Given the description of an element on the screen output the (x, y) to click on. 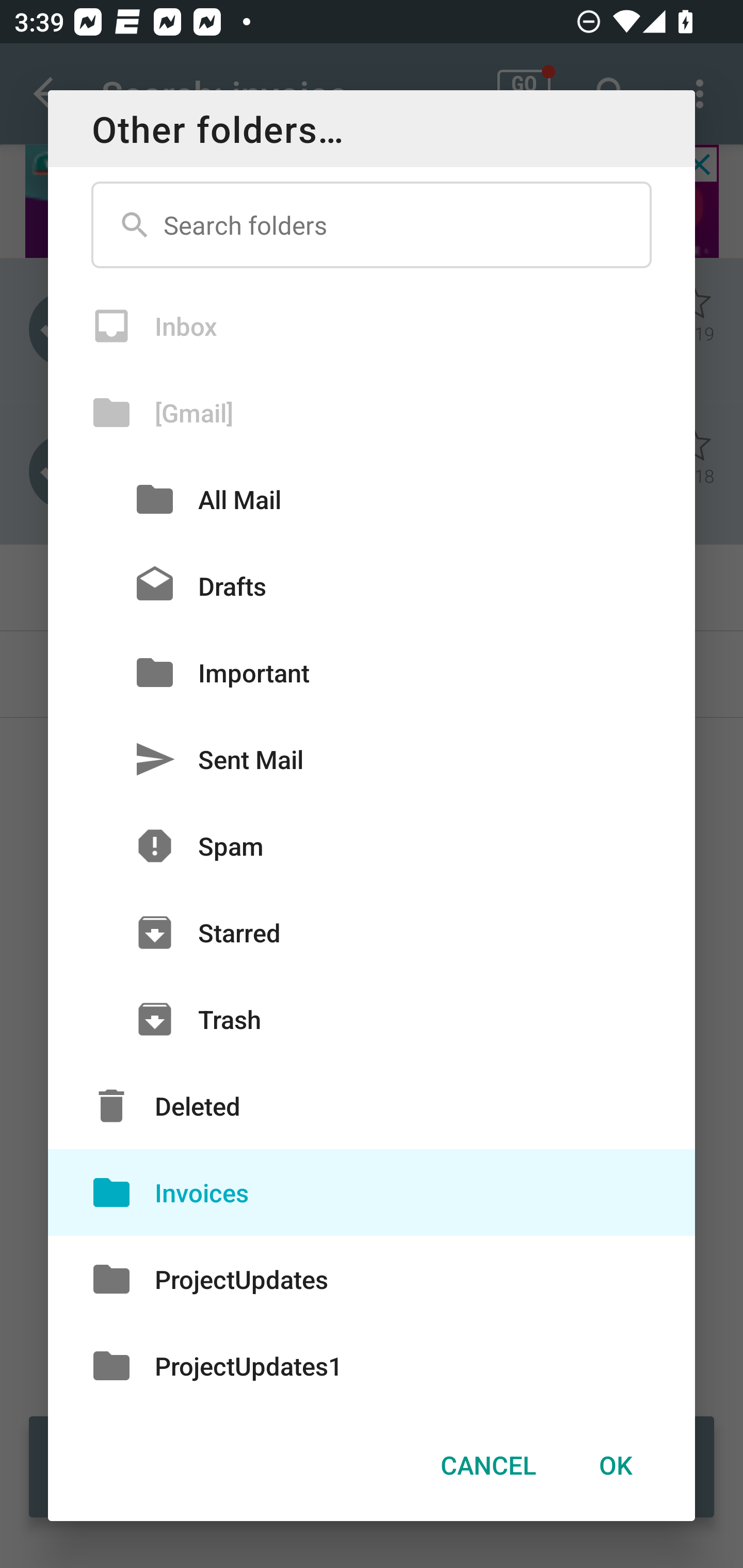
All Mail (371, 499)
Drafts (371, 585)
Important (371, 672)
Sent Mail (371, 759)
Spam (371, 845)
Starred (371, 932)
Trash (371, 1019)
Deleted (371, 1106)
Invoices (371, 1192)
ProjectUpdates (371, 1278)
ProjectUpdates1 (371, 1365)
CANCEL (488, 1464)
OK (615, 1464)
